Given the description of an element on the screen output the (x, y) to click on. 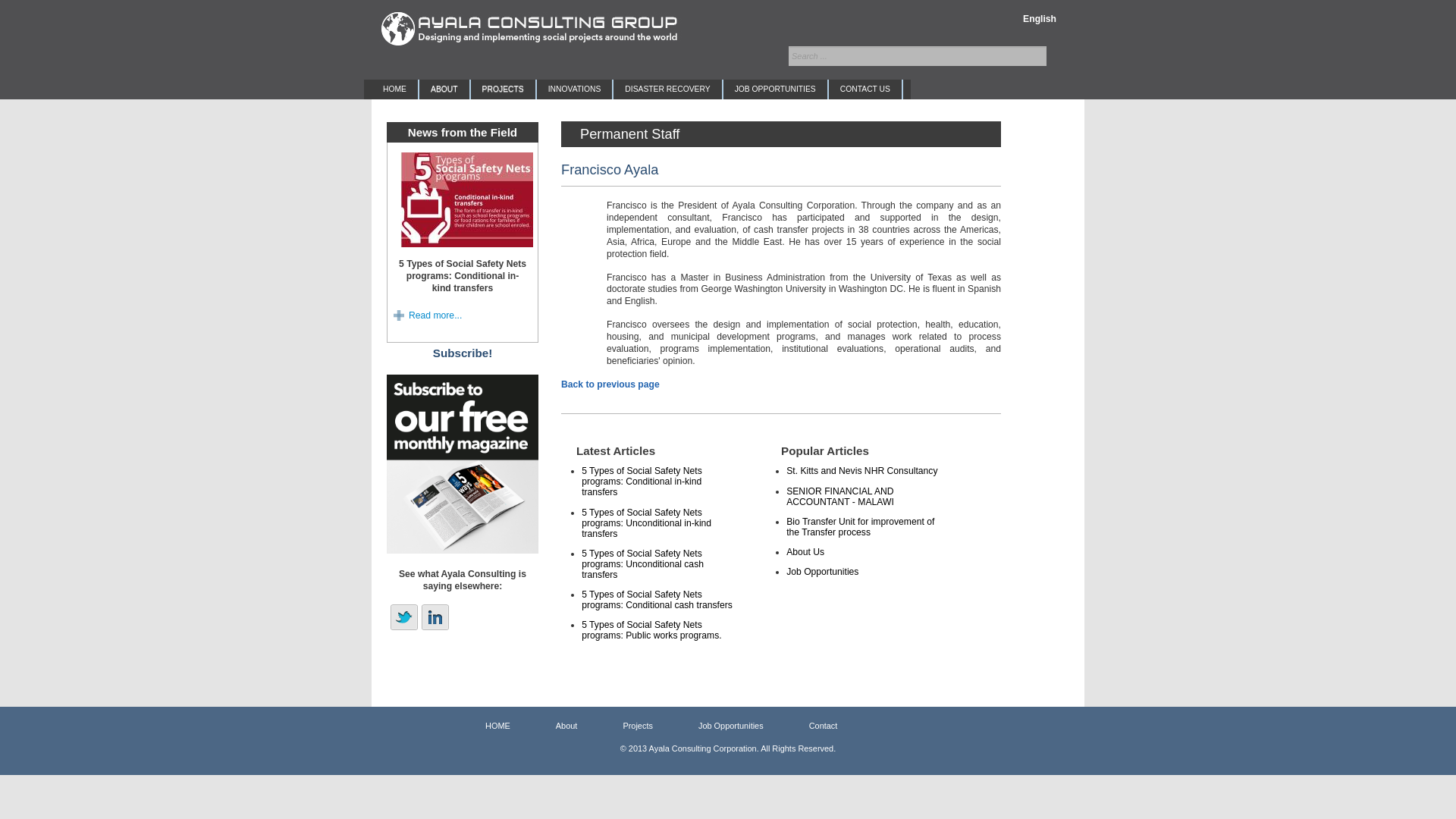
Twitter (403, 616)
Linkedin (435, 616)
JOB OPPORTUNITIES (775, 89)
Read more... (429, 315)
Linkedin (435, 616)
Francisco Ayala (609, 169)
INNOVATIONS (574, 89)
Twitter (403, 616)
English (1039, 18)
CONTACT US (864, 89)
Back to previous page (609, 384)
News from the Field (461, 132)
HOME (394, 89)
